Given the description of an element on the screen output the (x, y) to click on. 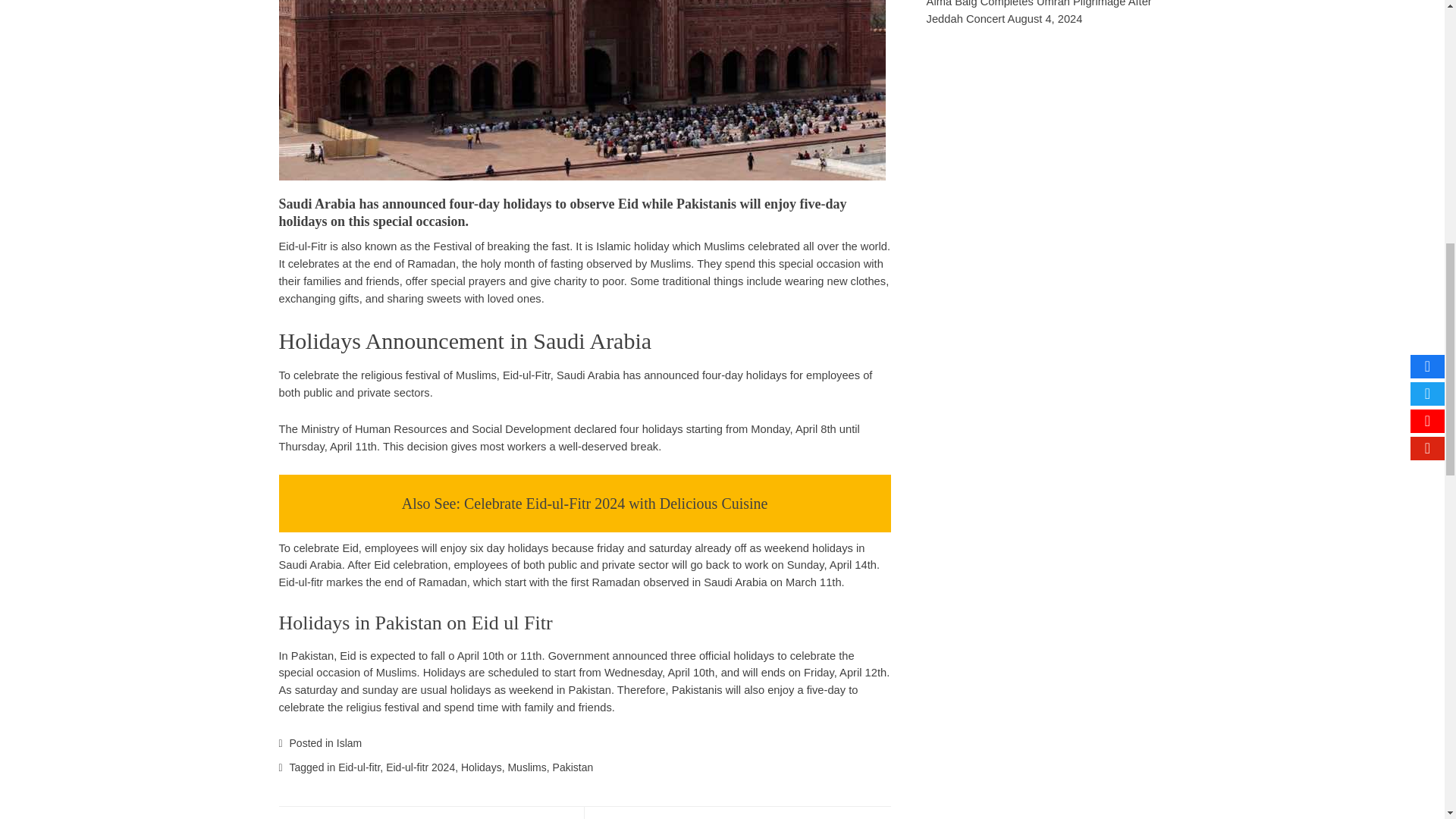
Eid-ul-fitr (358, 767)
Muslims (526, 767)
Islam (348, 743)
Pakistan (573, 767)
Celebrate Eid-ul-Fitr 2024 with Delicious Cuisine (616, 503)
Holidays (481, 767)
Eid-ul-fitr 2024 (419, 767)
